Given the description of an element on the screen output the (x, y) to click on. 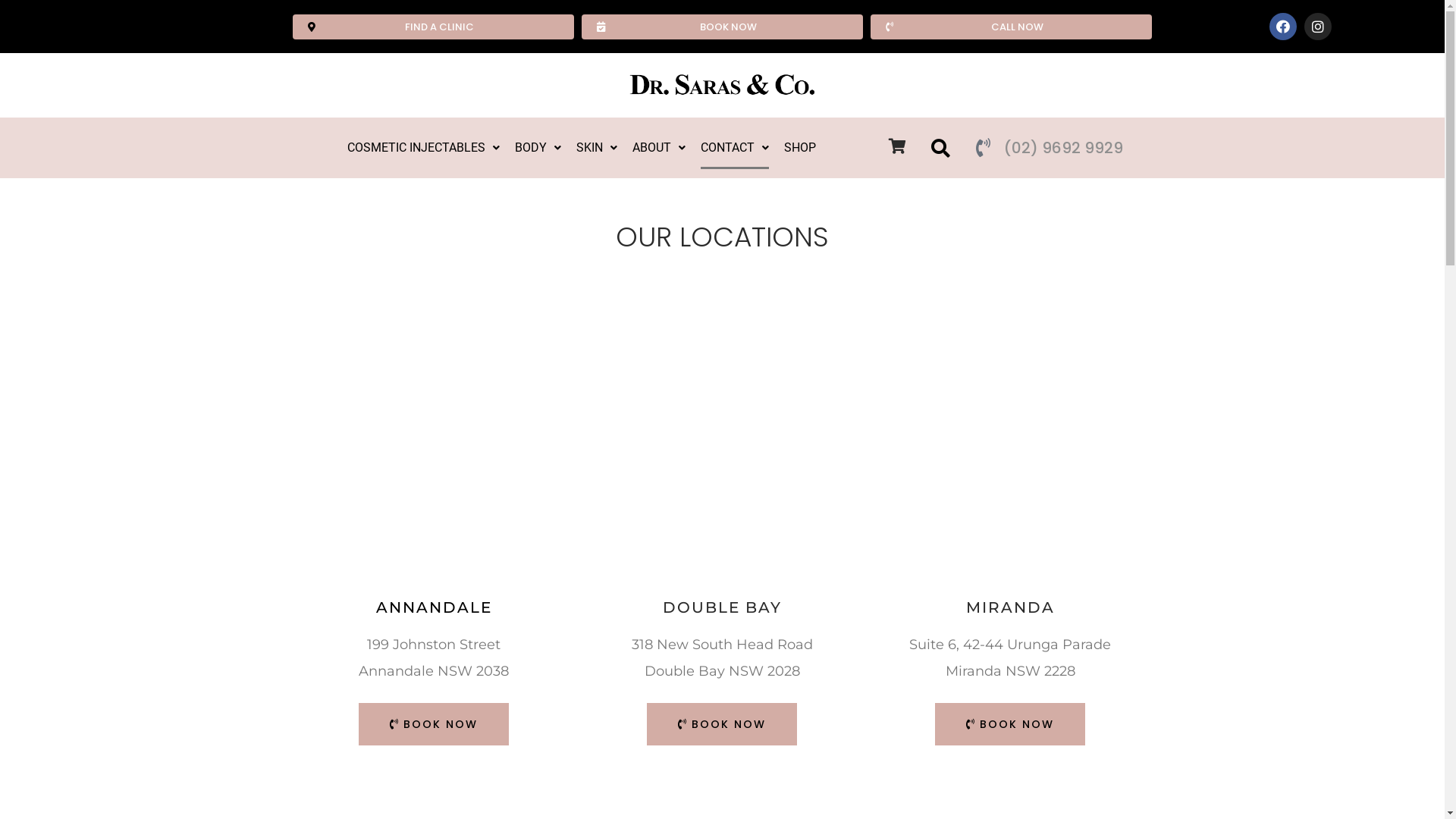
BOOK NOW Element type: text (721, 25)
BOOK NOW Element type: text (433, 723)
(02) 9692 9929 Element type: text (1063, 147)
BOOK NOW Element type: text (1010, 723)
ABOUT Element type: text (658, 147)
BOOK NOW Element type: text (721, 723)
SHOP Element type: text (799, 147)
COSMETIC INJECTABLES Element type: text (423, 147)
SKIN Element type: text (596, 147)
CALL NOW Element type: text (1010, 25)
dr saras and co miranda Element type: hover (1009, 432)
CONTACT Element type: text (734, 147)
dr saras and co annandale Element type: hover (433, 432)
dr saras and co double bay Element type: hover (721, 432)
BODY Element type: text (537, 147)
FIND A CLINIC Element type: text (433, 25)
